Given the description of an element on the screen output the (x, y) to click on. 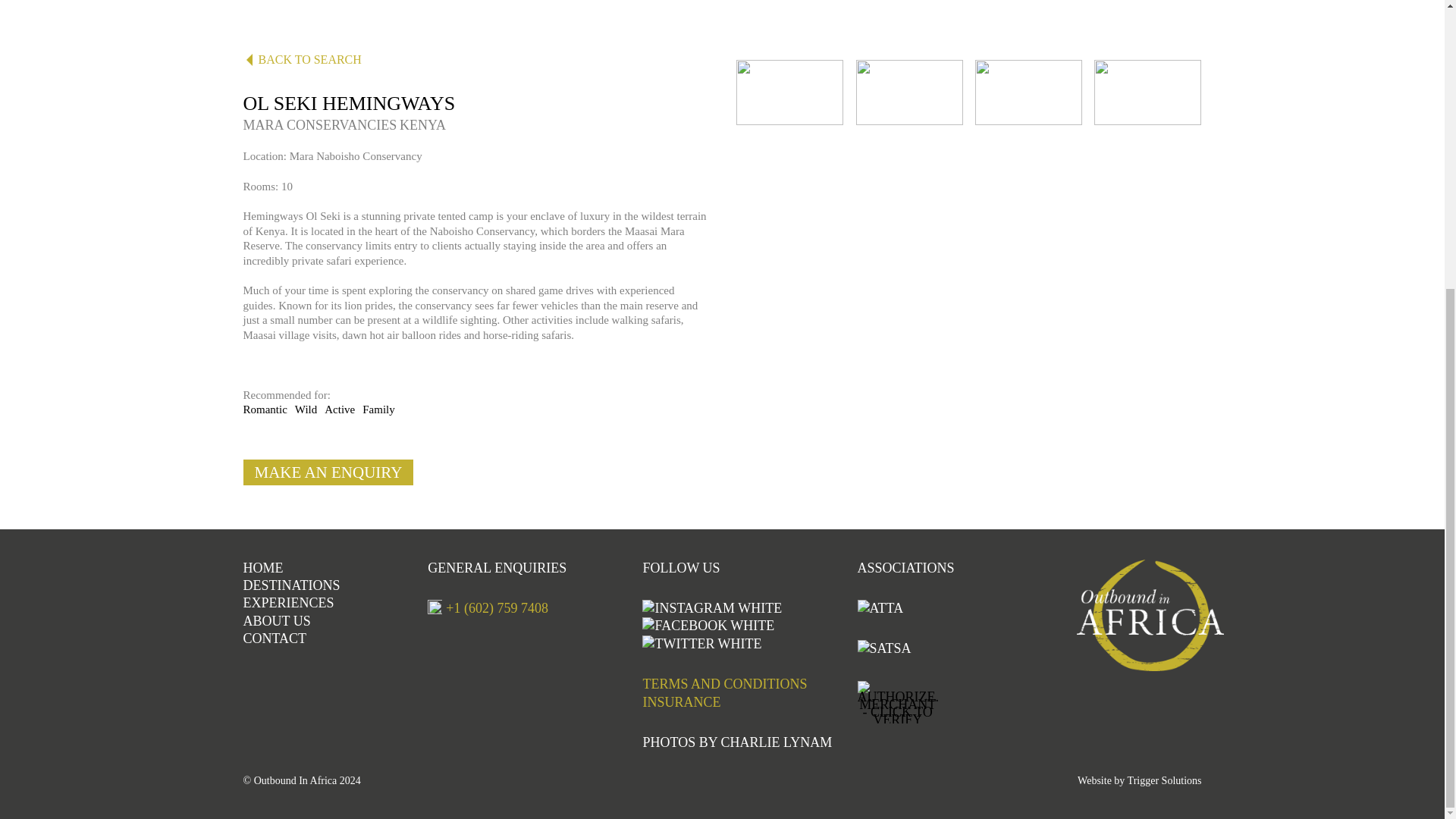
KENYA (421, 124)
PHOTOS BY CHARLIE LYNAM (736, 742)
ABOUT US (276, 620)
TERMS AND CONDITIONS (724, 683)
EXPERIENCES (288, 602)
INSURANCE (681, 702)
BACK TO SEARCH (475, 53)
Website by Trigger Solutions (1139, 780)
DESTINATIONS (291, 585)
MAKE AN ENQUIRY (328, 472)
